Given the description of an element on the screen output the (x, y) to click on. 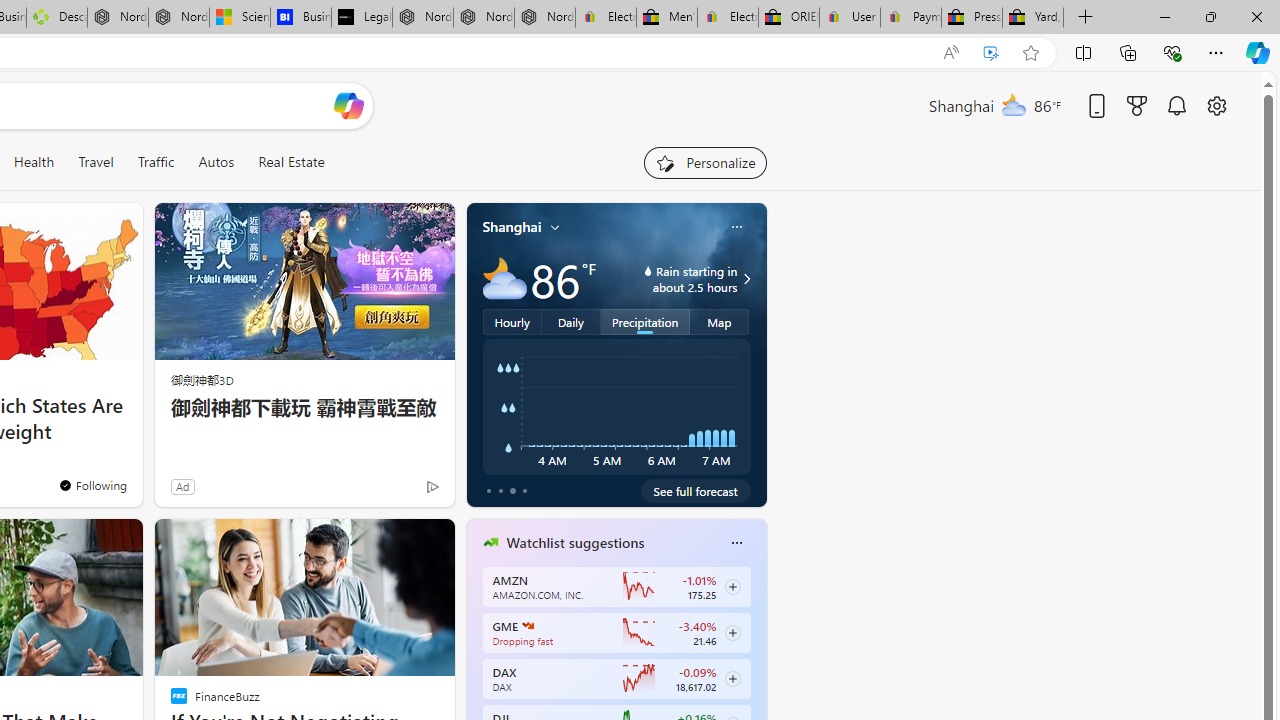
Class: weather-arrow-glyph (746, 278)
You're following MSNBC (390, 490)
See full forecast (695, 490)
previous (476, 670)
Rain starting in about 2.5 hours (744, 278)
